Given the description of an element on the screen output the (x, y) to click on. 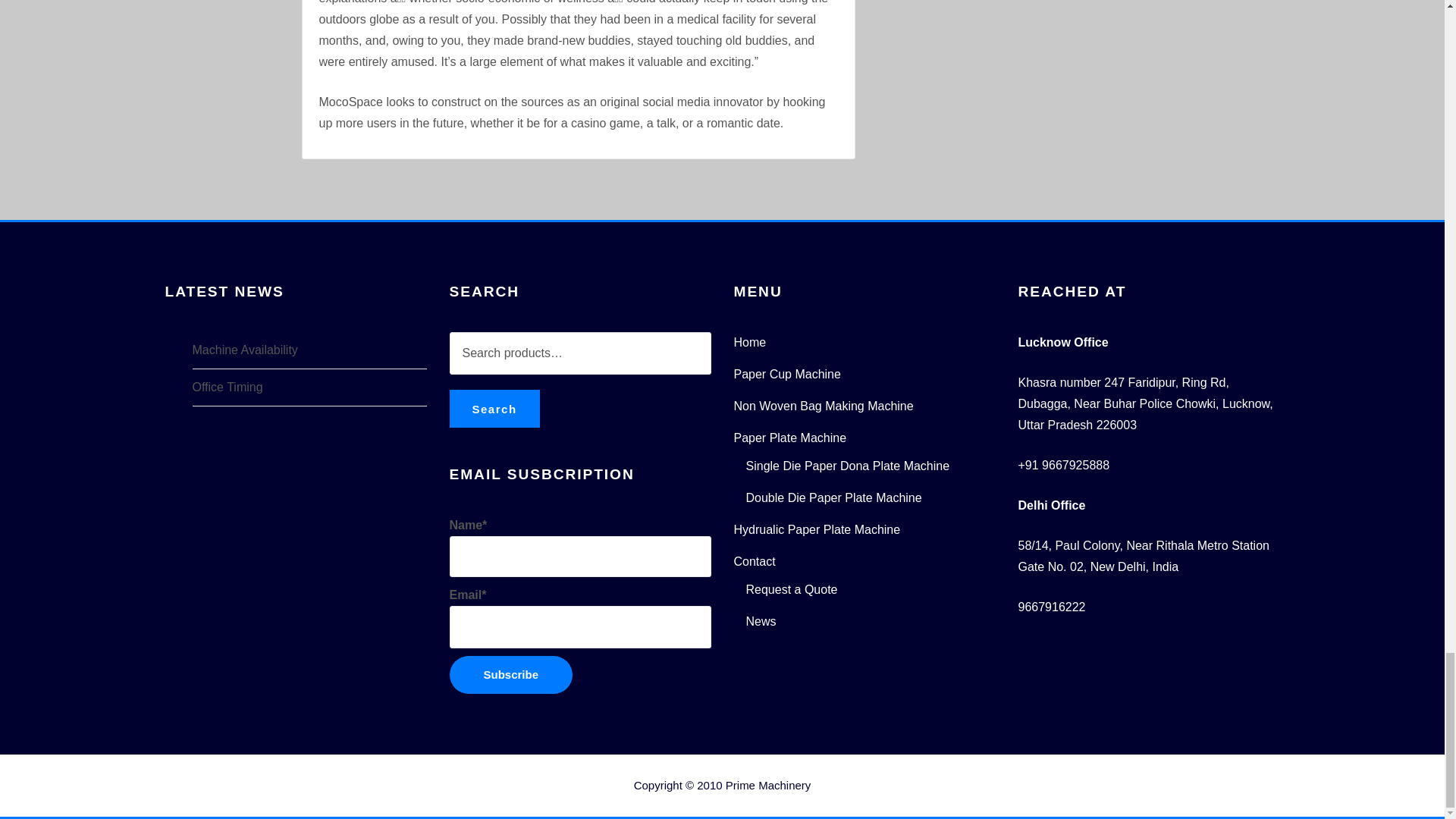
Double Die Paper Plate Machine (833, 497)
Search (493, 408)
Office Timing (227, 386)
Machine Availability (245, 349)
Subscribe (510, 674)
News (760, 621)
Subscribe (510, 674)
Paper Plate Machine (790, 437)
Machine Availability (245, 349)
Non Woven Bag Making Machine (823, 405)
